Given the description of an element on the screen output the (x, y) to click on. 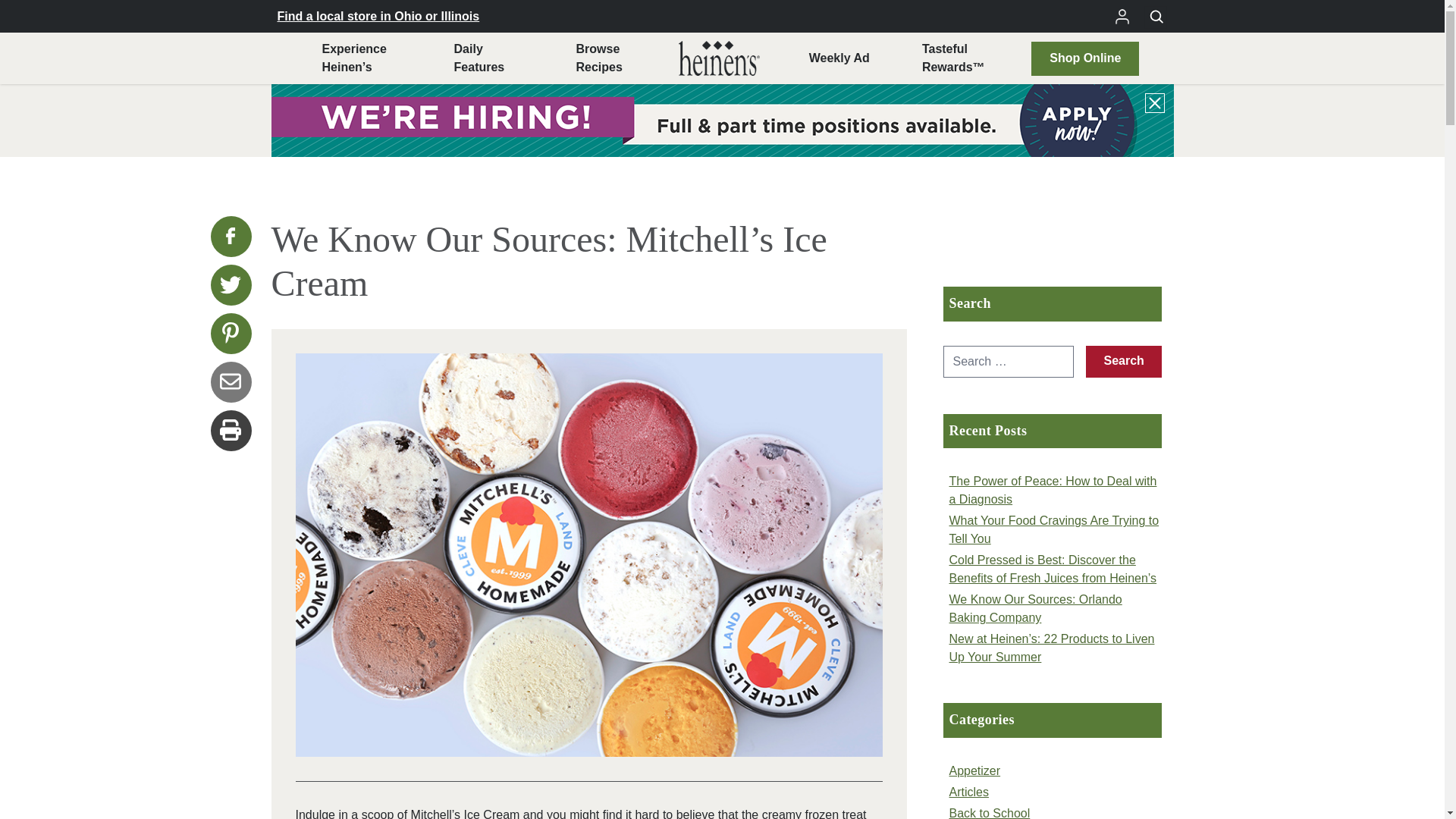
Shop Online (1084, 57)
Find a local store in Ohio or Illinois (379, 15)
Weekly Ad (598, 58)
